Given the description of an element on the screen output the (x, y) to click on. 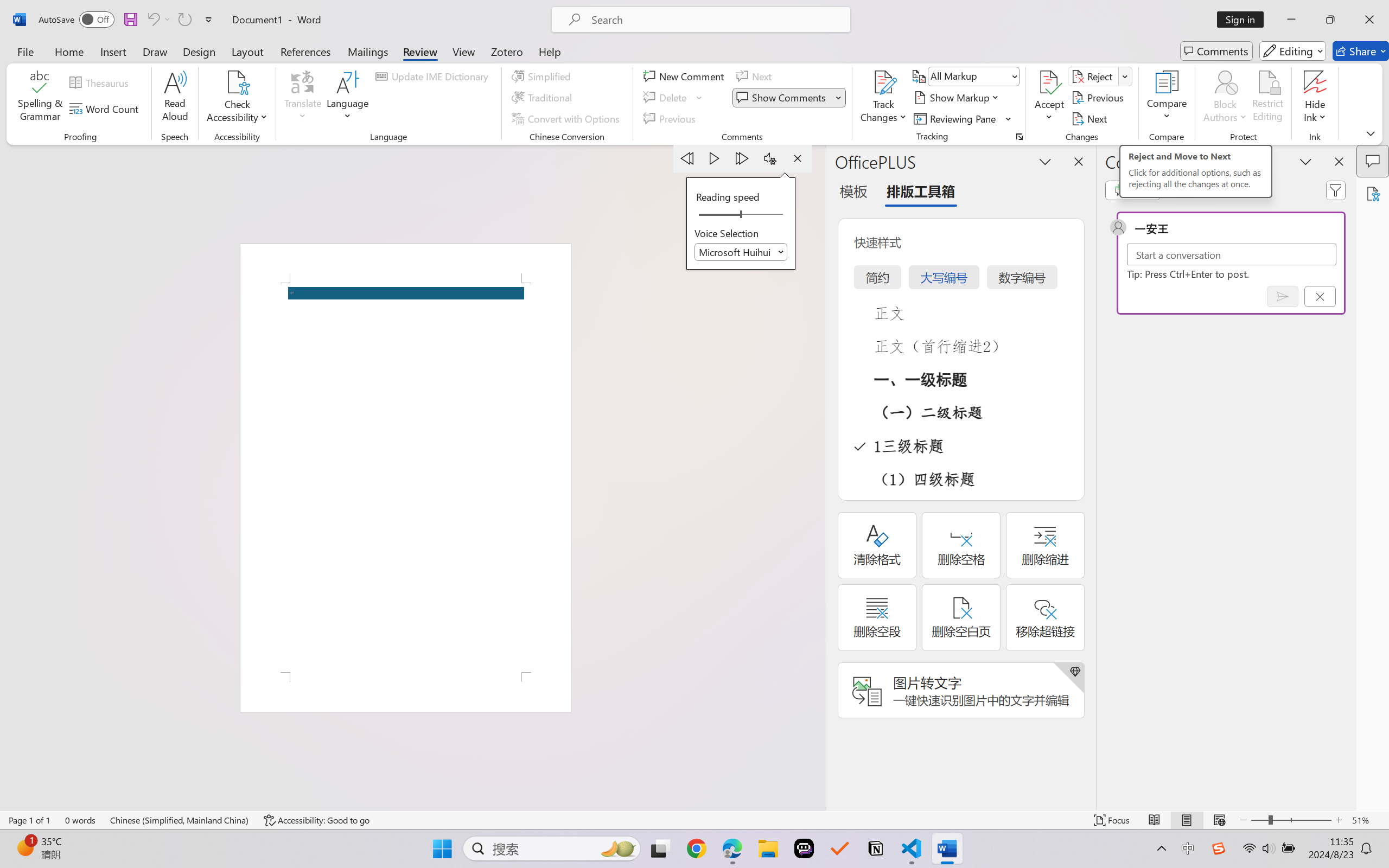
Previous (1099, 97)
Accept (1049, 97)
Editing (1292, 50)
Language Chinese (Simplified, Mainland China) (179, 819)
Compare (1166, 97)
Traditional (543, 97)
